Given the description of an element on the screen output the (x, y) to click on. 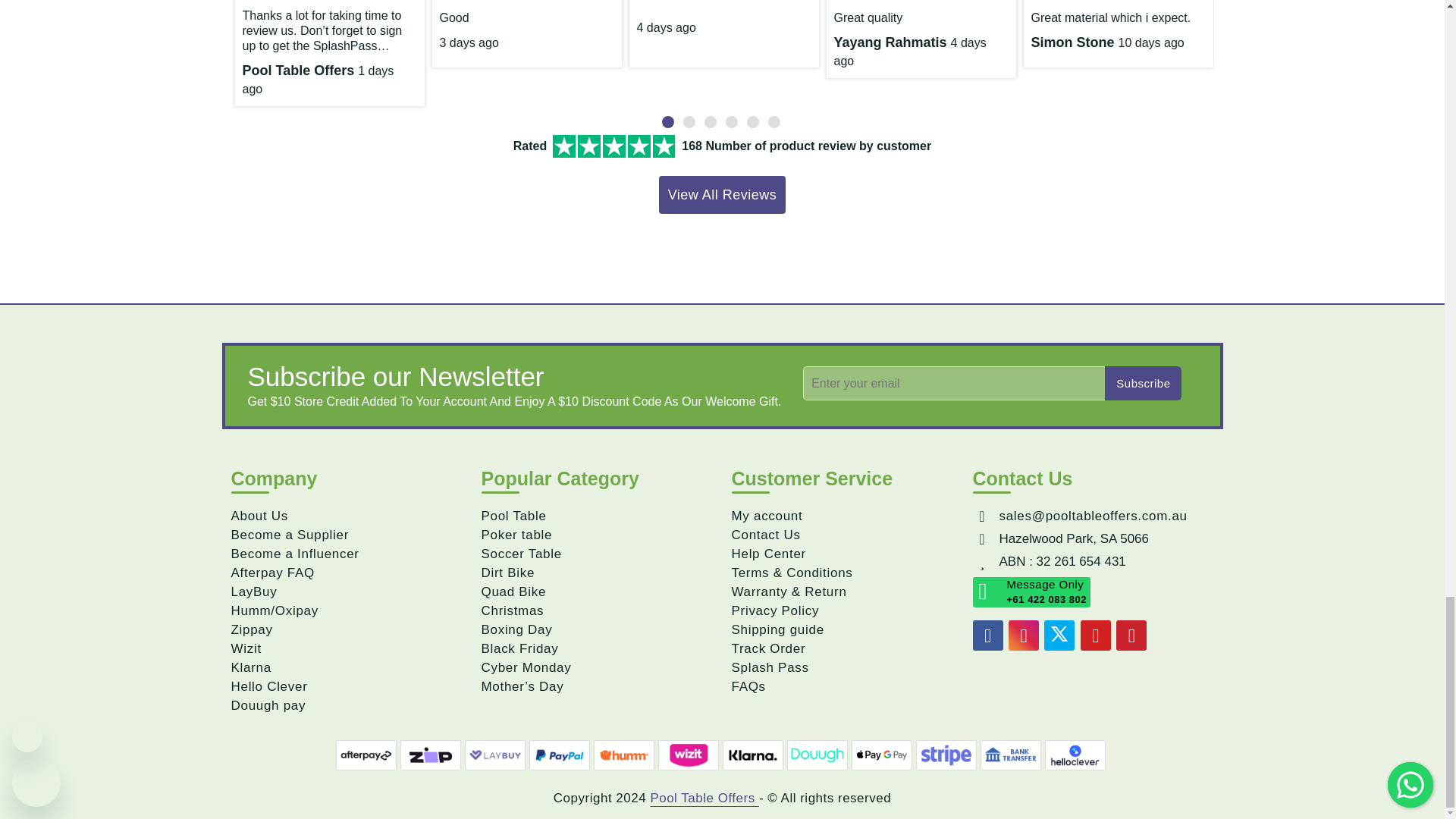
facebook (987, 634)
